Given the description of an element on the screen output the (x, y) to click on. 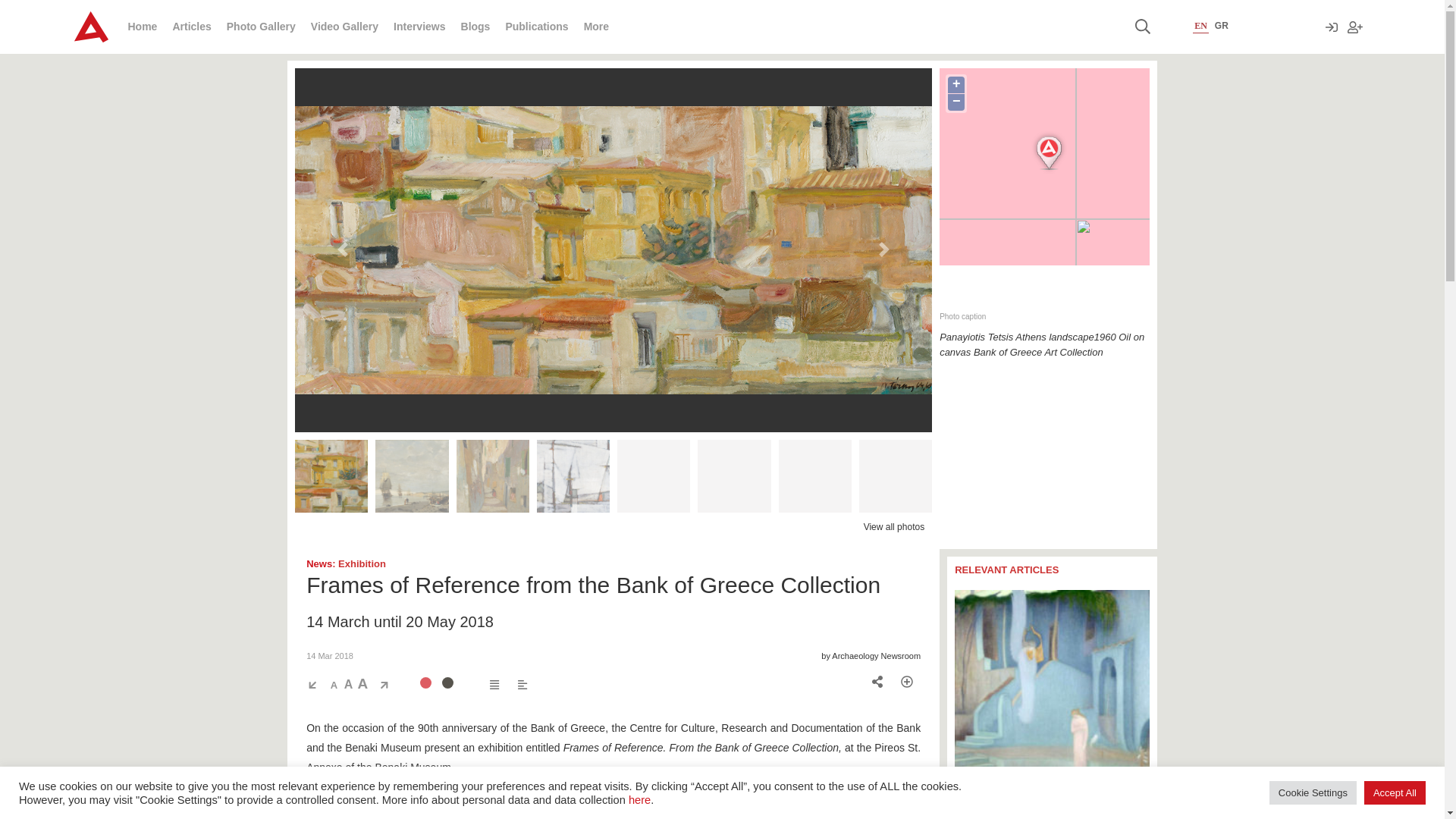
Blogs (475, 26)
More (595, 26)
News (318, 563)
Publications (536, 26)
GR (1221, 25)
Home (142, 26)
Interviews (419, 26)
Photo Gallery (261, 26)
Articles (191, 26)
Video Gallery (344, 26)
View all photos (893, 526)
